Given the description of an element on the screen output the (x, y) to click on. 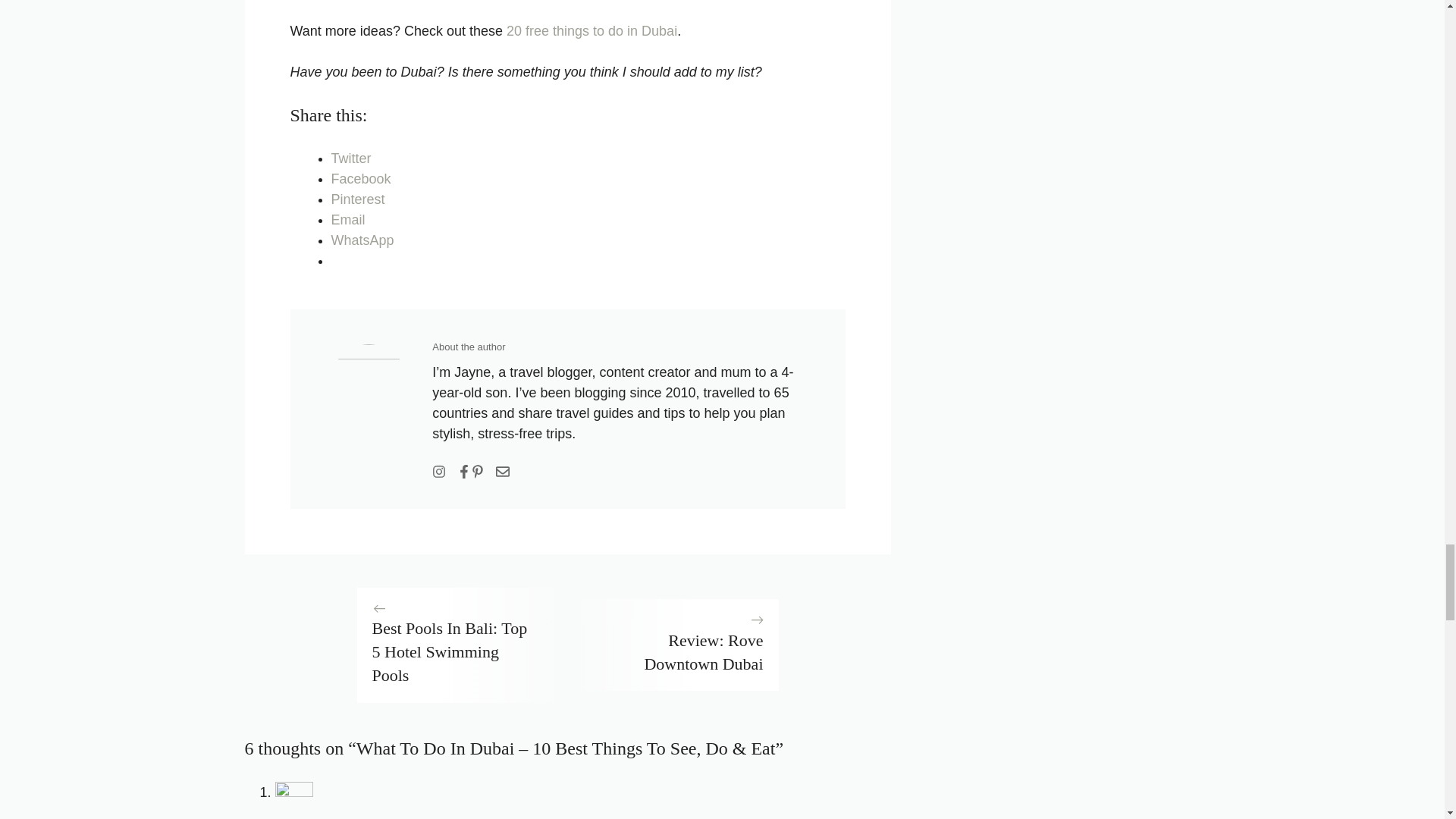
Click to share on Pinterest (357, 199)
Click to email a link to a friend (347, 219)
Click to share on WhatsApp (361, 240)
Click to share on Facebook (360, 178)
Click to share on Twitter (350, 158)
